Given the description of an element on the screen output the (x, y) to click on. 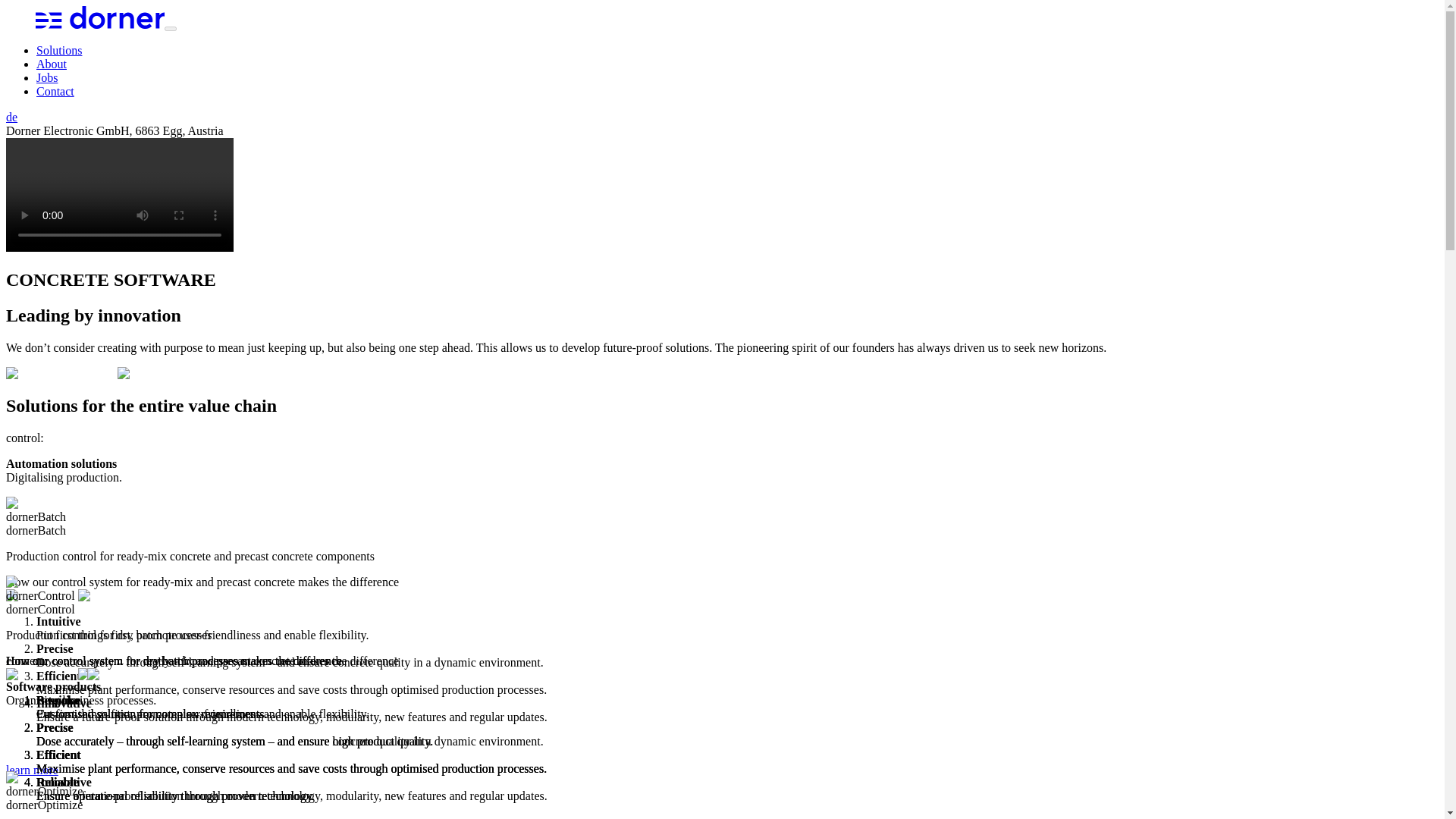
Contact (55, 91)
Jobs (47, 77)
learn more (31, 769)
About (51, 63)
Solutions (58, 50)
